Given the description of an element on the screen output the (x, y) to click on. 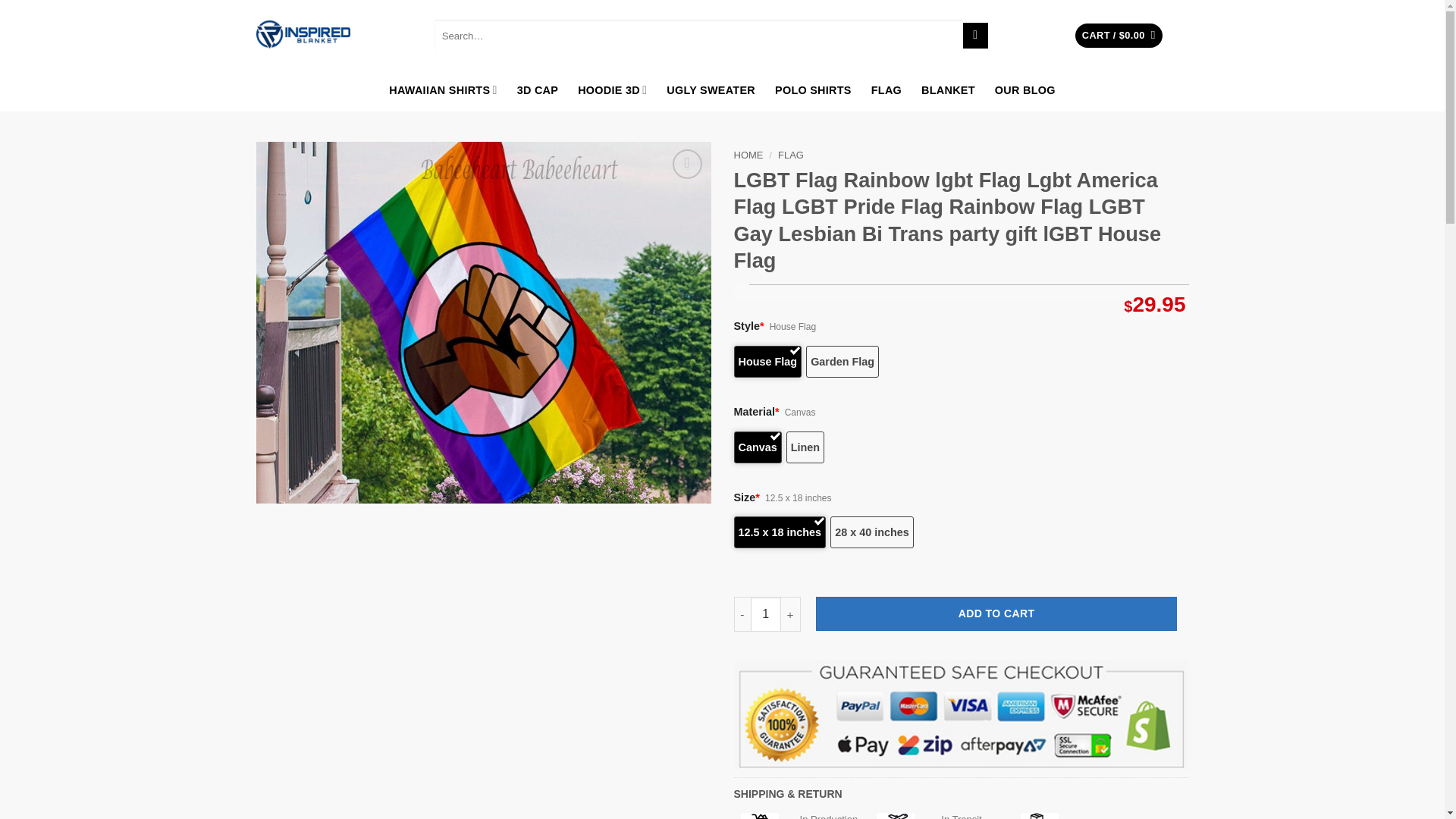
Search (975, 35)
Cart (1118, 35)
Linen (805, 447)
Garden Flag (842, 361)
Zoom (686, 164)
House Flag (767, 361)
HOODIE 3D (612, 89)
12.5 x 18 inches (780, 531)
Canvas (757, 447)
3D CAP (537, 89)
HAWAIIAN SHIRTS (442, 89)
28 x 40 inches (871, 531)
